Given the description of an element on the screen output the (x, y) to click on. 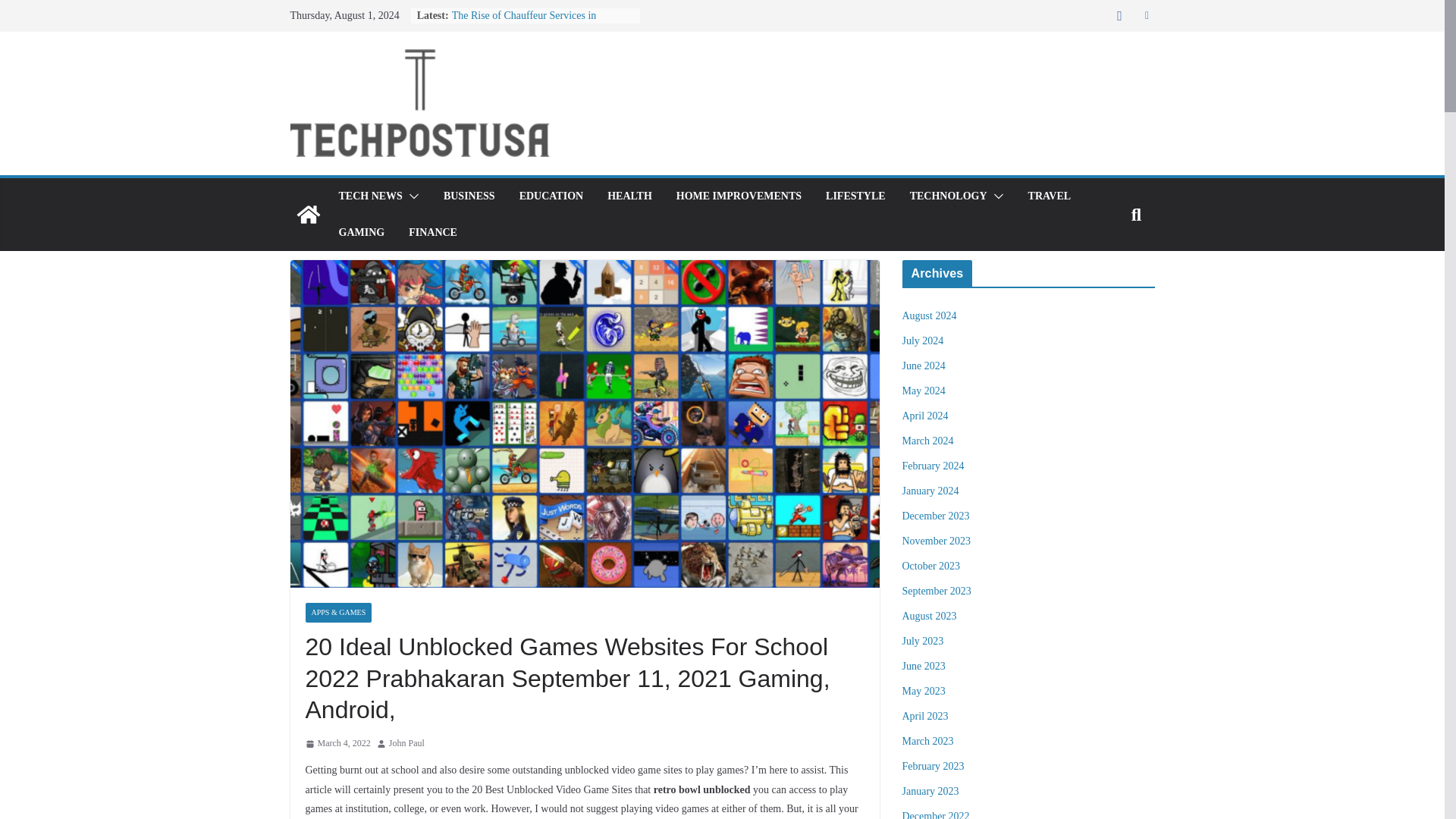
EDUCATION (551, 196)
HOME IMPROVEMENTS (739, 196)
TRAVEL (1049, 196)
John Paul (406, 743)
TECH NEWS (369, 196)
John Paul (406, 743)
TECHNOLOGY (948, 196)
BUSINESS (469, 196)
GAMING (360, 232)
LIFESTYLE (855, 196)
HEALTH (629, 196)
March 4, 2022 (336, 743)
FINANCE (433, 232)
